Given the description of an element on the screen output the (x, y) to click on. 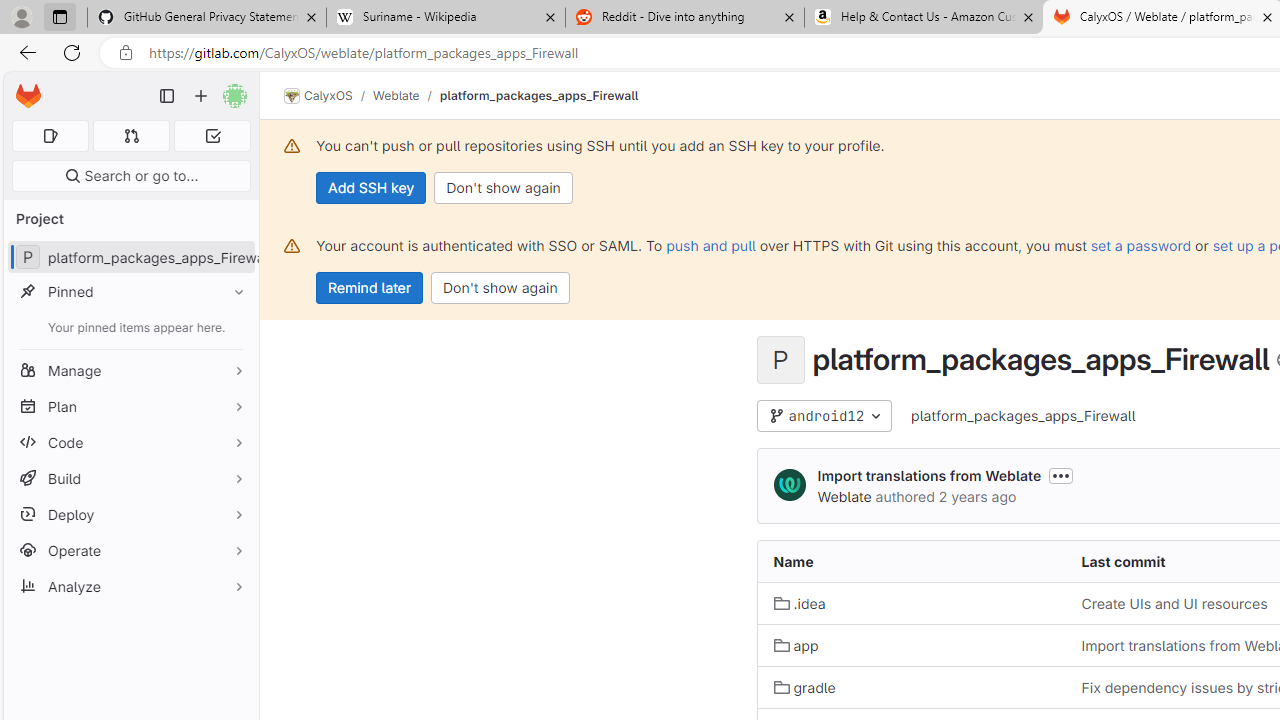
Name (911, 561)
Pinned (130, 291)
Hosted Weblate's avatar (789, 485)
Class: s16 gl-alert-icon gl-alert-icon-no-title (291, 246)
CalyxOS/ (328, 96)
Create UIs and UI resources (1174, 603)
Operate (130, 550)
Toggle commit description (1061, 475)
set a password (1140, 245)
Weblate (843, 496)
Deploy (130, 514)
